Given the description of an element on the screen output the (x, y) to click on. 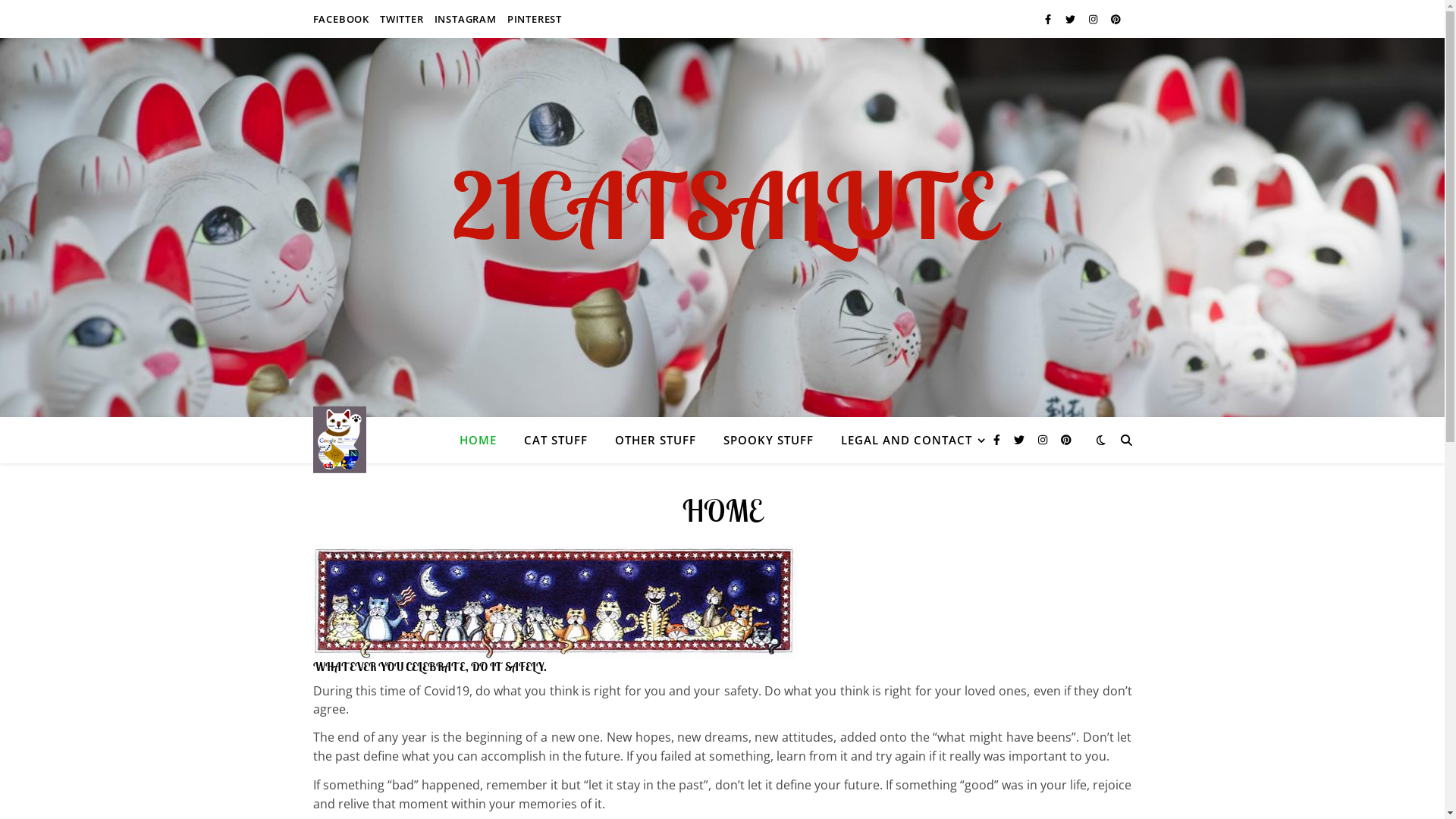
21CatSalute Element type: hover (338, 439)
HOME Element type: text (483, 439)
21CATSALUTE Element type: text (722, 204)
FACEBOOK Element type: text (342, 18)
TWITTER Element type: text (401, 18)
SPOOKY STUFF Element type: text (768, 439)
INSTAGRAM Element type: text (465, 18)
OTHER STUFF Element type: text (654, 439)
CAT STUFF Element type: text (555, 439)
LEGAL AND CONTACT Element type: text (906, 440)
PINTEREST Element type: text (532, 18)
